Given the description of an element on the screen output the (x, y) to click on. 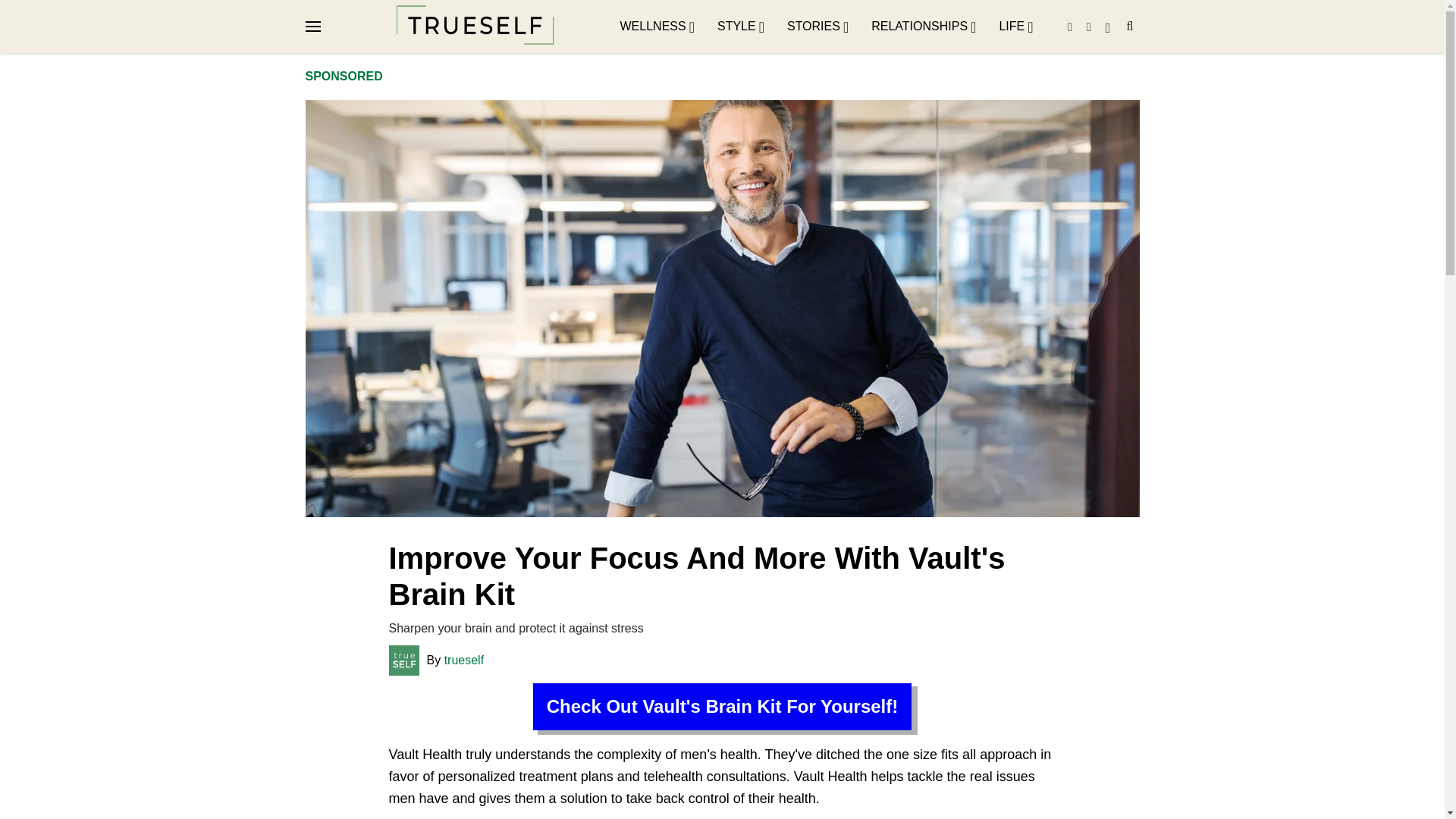
RELATIONSHIPS (922, 26)
STORIES (817, 26)
trueself (454, 660)
WELLNESS (657, 26)
